Given the description of an element on the screen output the (x, y) to click on. 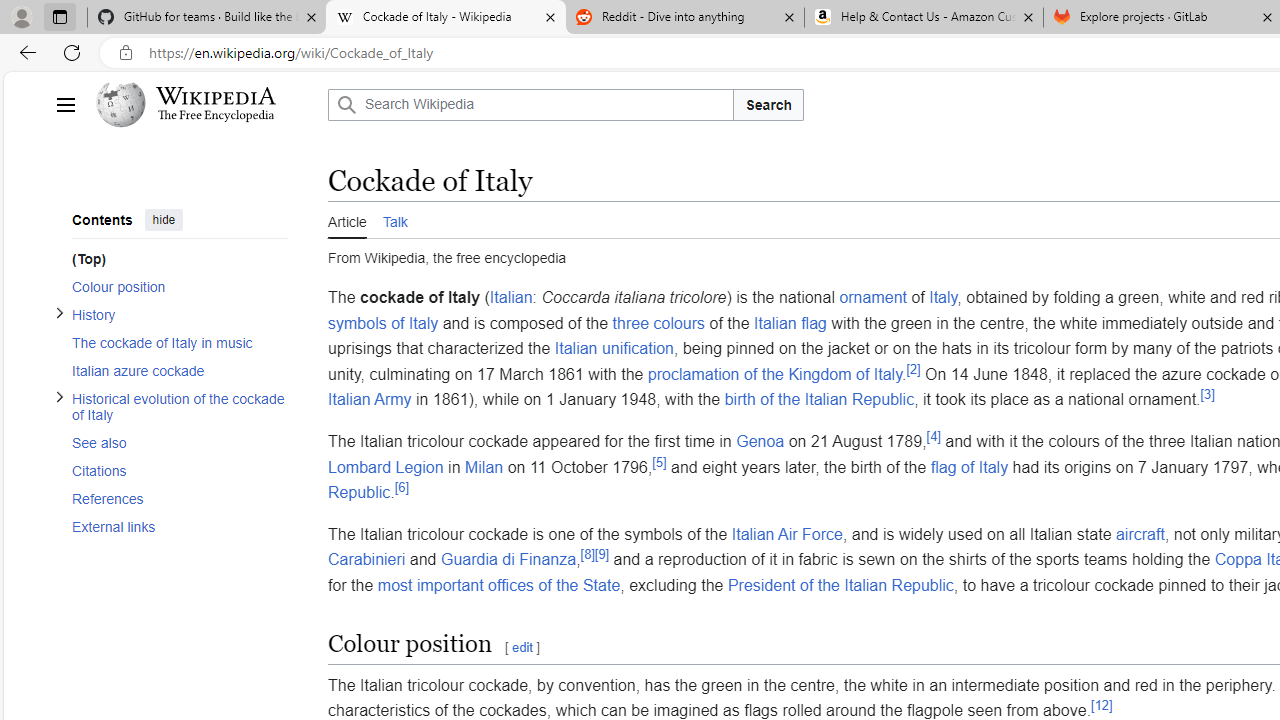
Colour position (179, 286)
[8] (587, 555)
Wikipedia The Free Encyclopedia (206, 104)
Carabinieri (366, 559)
flag of Italy (969, 466)
Article (347, 219)
Genoa (760, 441)
Italian Air Force (786, 533)
[9] (601, 555)
[4] (932, 435)
hide (163, 219)
Milan (483, 466)
[2] (913, 368)
